Given the description of an element on the screen output the (x, y) to click on. 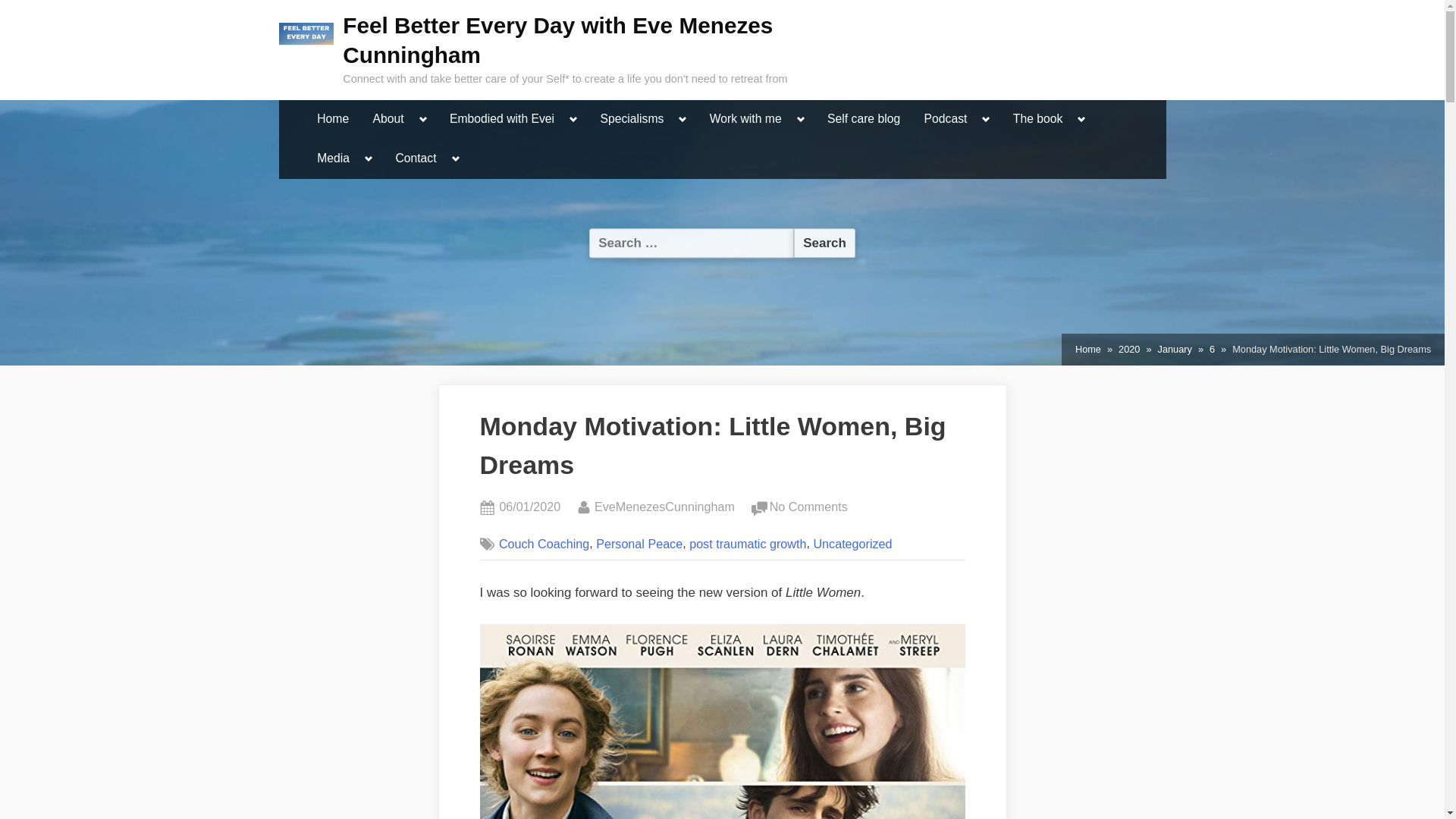
Home (332, 119)
Specialisms (631, 119)
Embodied with Evei (501, 119)
Toggle sub-menu (573, 119)
About (388, 119)
Work with me (745, 119)
Feel Better Every Day with Eve Menezes Cunningham (557, 40)
Toggle sub-menu (682, 119)
Toggle sub-menu (422, 119)
Toggle sub-menu (801, 119)
Search (824, 242)
Search (824, 242)
